Given the description of an element on the screen output the (x, y) to click on. 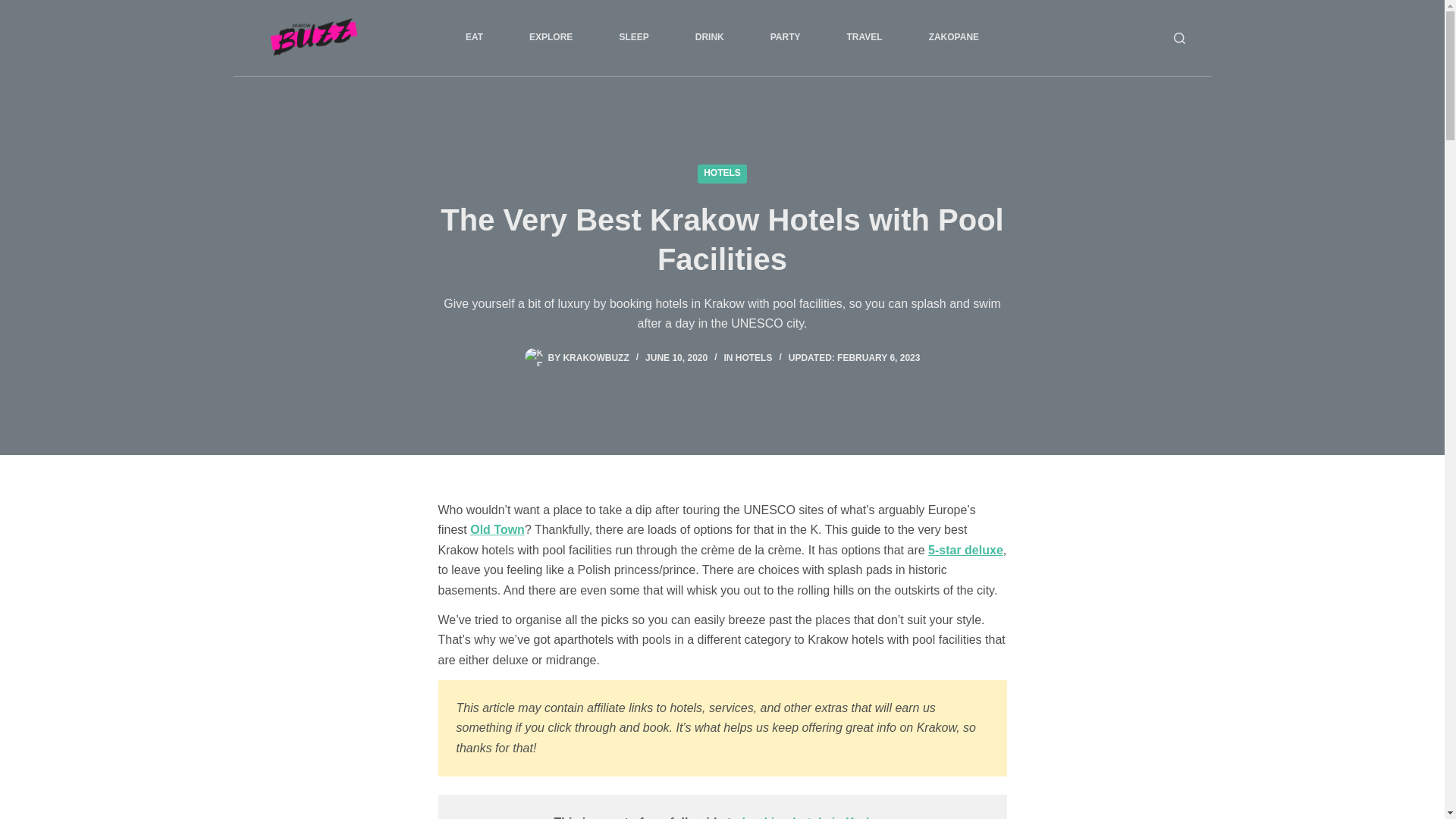
TRAVEL (864, 38)
SLEEP (633, 38)
Posts by KrakowBuzz (595, 357)
EXPLORE (550, 38)
The Very Best Krakow Hotels with Pool Facilities (722, 239)
KRAKOWBUZZ (595, 357)
Old Town (497, 529)
Skip to content (15, 7)
HOTELS (721, 173)
DRINK (708, 38)
PARTY (785, 38)
HOTELS (754, 357)
EAT (473, 38)
5-star deluxe (965, 549)
booking hotels in Krakow (814, 817)
